Given the description of an element on the screen output the (x, y) to click on. 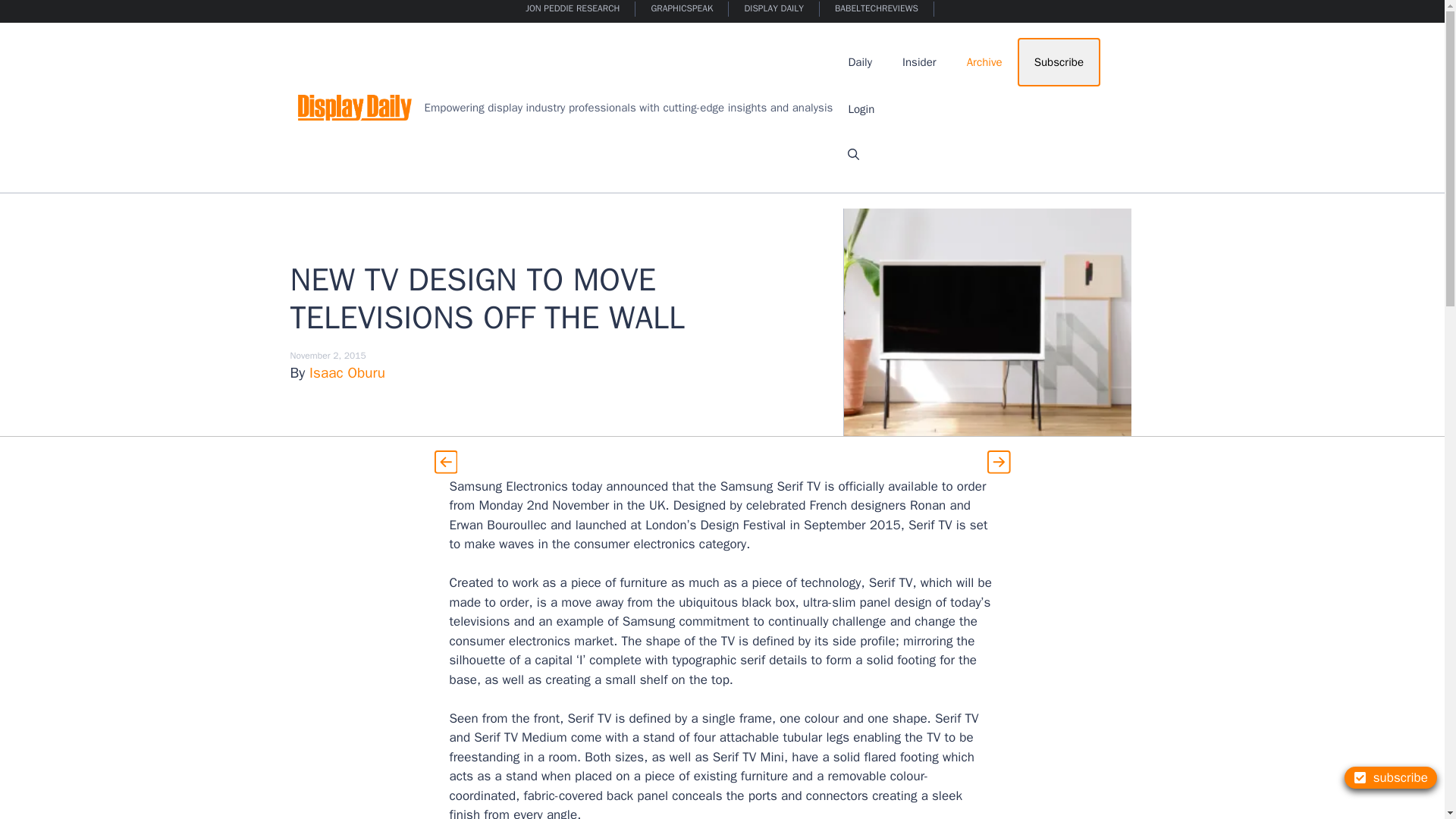
GRAPHICSPEAK (681, 8)
Insider (919, 62)
Archive (984, 62)
Login (860, 108)
BABELTECHREVIEWS (876, 8)
Isaac Oburu (346, 372)
JON PEDDIE RESEARCH (572, 8)
Daily (859, 62)
DISPLAY DAILY (773, 8)
subscribe (1390, 776)
